Given the description of an element on the screen output the (x, y) to click on. 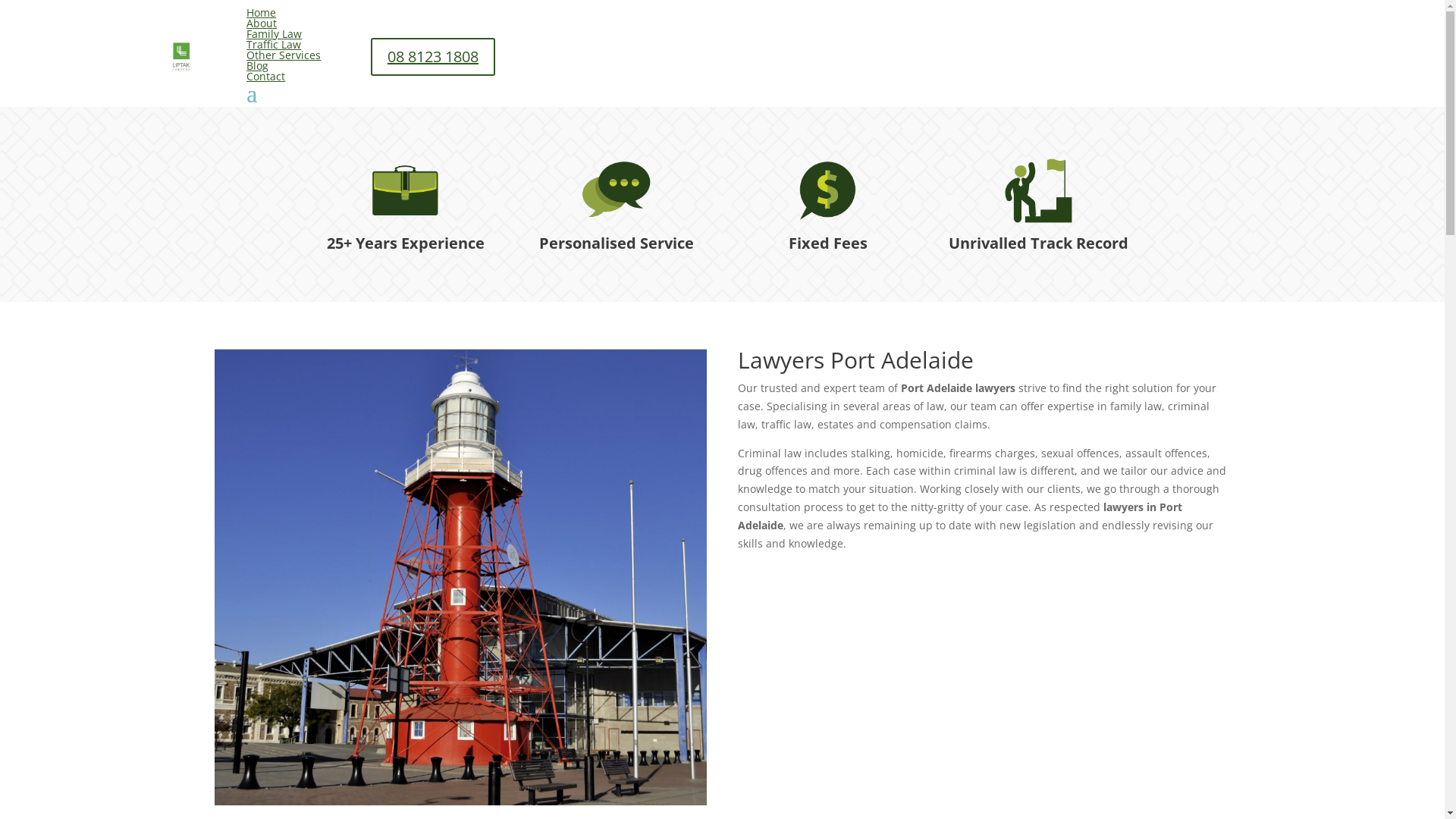
About Element type: text (261, 22)
Contact Element type: text (265, 76)
Other Services Element type: text (283, 54)
Blog Element type: text (257, 65)
Traffic Law Element type: text (273, 44)
08 8123 1808 Element type: text (432, 56)
Family Law Element type: text (273, 33)
Home Element type: text (261, 12)
Lawyers Port Adelaide Element type: hover (459, 576)
